Given the description of an element on the screen output the (x, y) to click on. 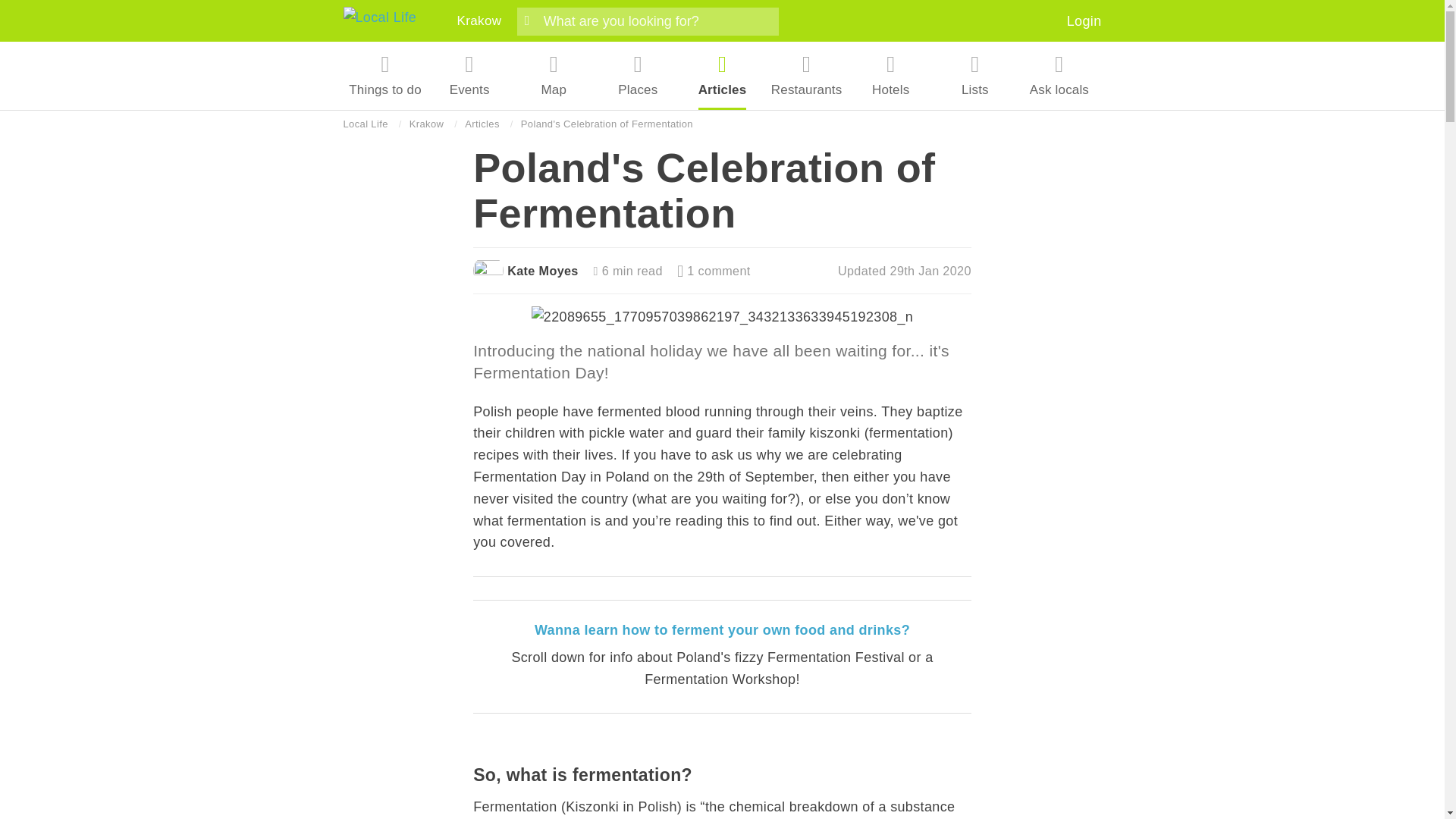
Wanna learn how to ferment your own food and drinks? (722, 630)
Login (1084, 20)
Krakow (426, 124)
1 comment (713, 270)
Krakow (478, 20)
Restaurants (807, 75)
Local Life (364, 124)
Articles (481, 124)
Things to do (385, 75)
